Given the description of an element on the screen output the (x, y) to click on. 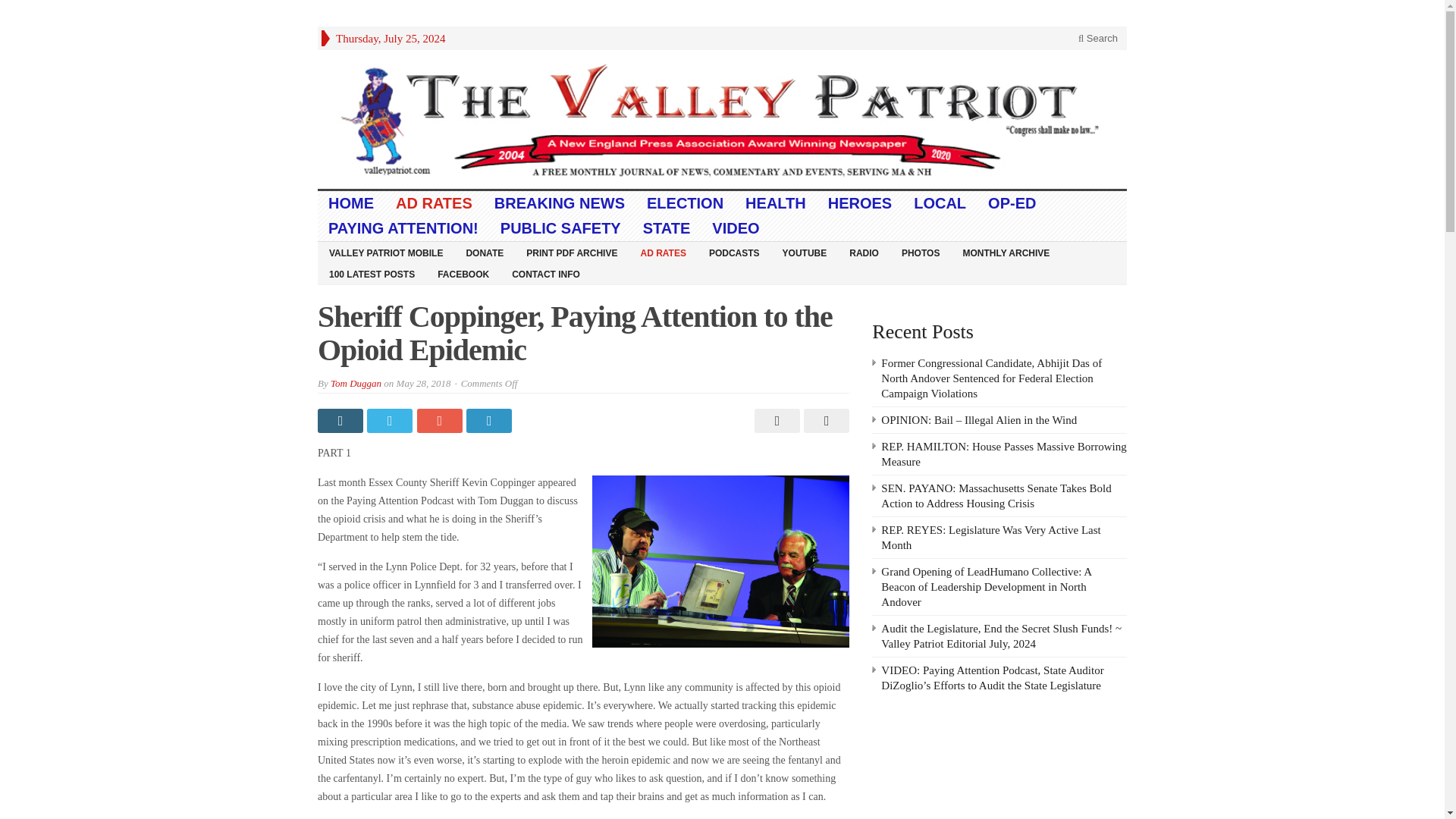
RADIO (863, 251)
BREAKING NEWS (559, 203)
PHOTOS (919, 251)
HEALTH (775, 203)
AD RATES (662, 251)
VIDEO (735, 228)
VALLEY PATRIOT MOBILE (385, 251)
HOME (351, 203)
DONATE (484, 251)
ELECTION (685, 203)
Search (1097, 37)
AD RATES (434, 203)
OP-ED (1011, 203)
PUBLIC SAFETY (560, 228)
YOUTUBE (804, 251)
